Given the description of an element on the screen output the (x, y) to click on. 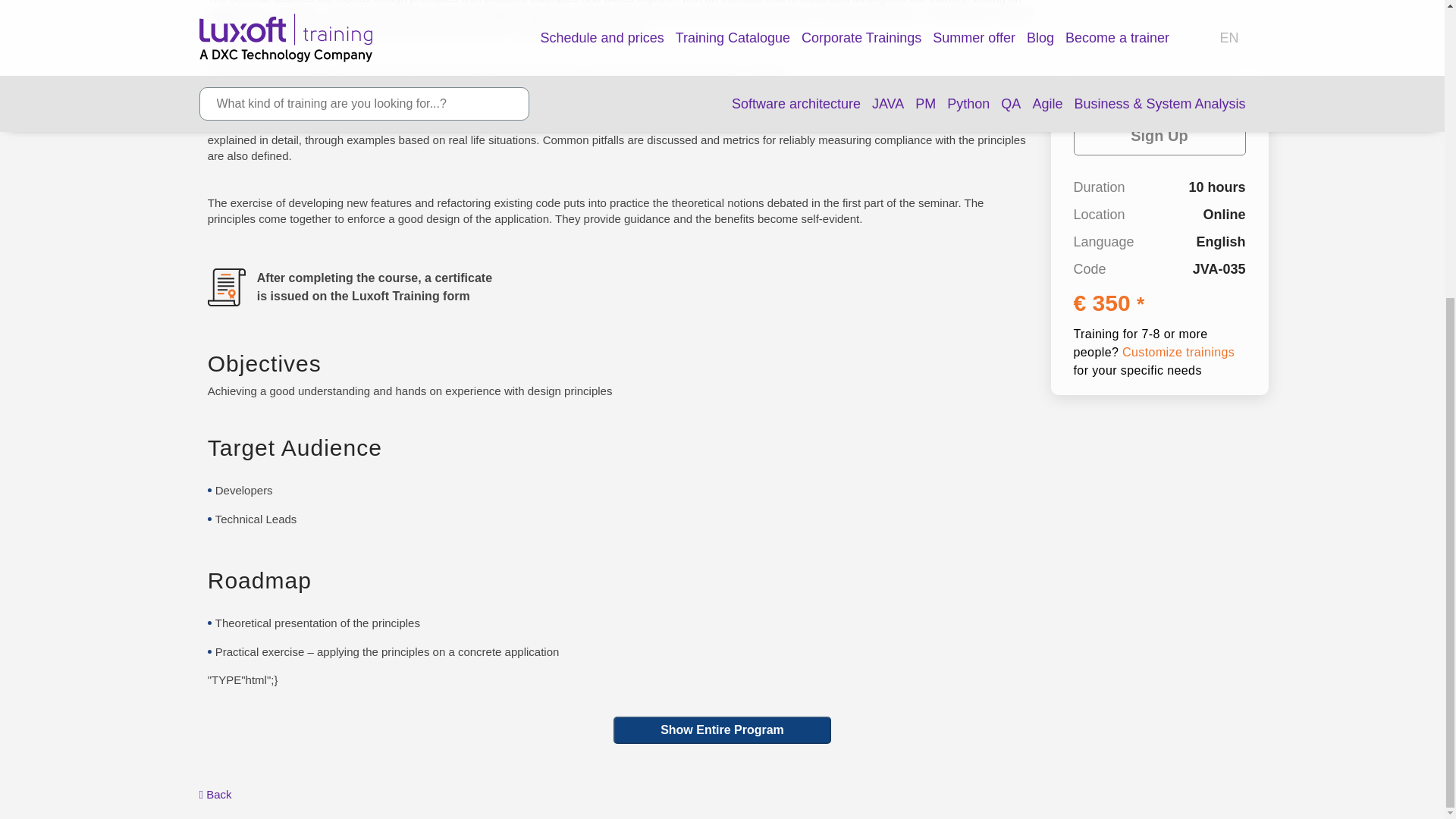
Show Entire Program (721, 729)
Sign Up (1160, 8)
Customize trainings (1178, 213)
